Given the description of an element on the screen output the (x, y) to click on. 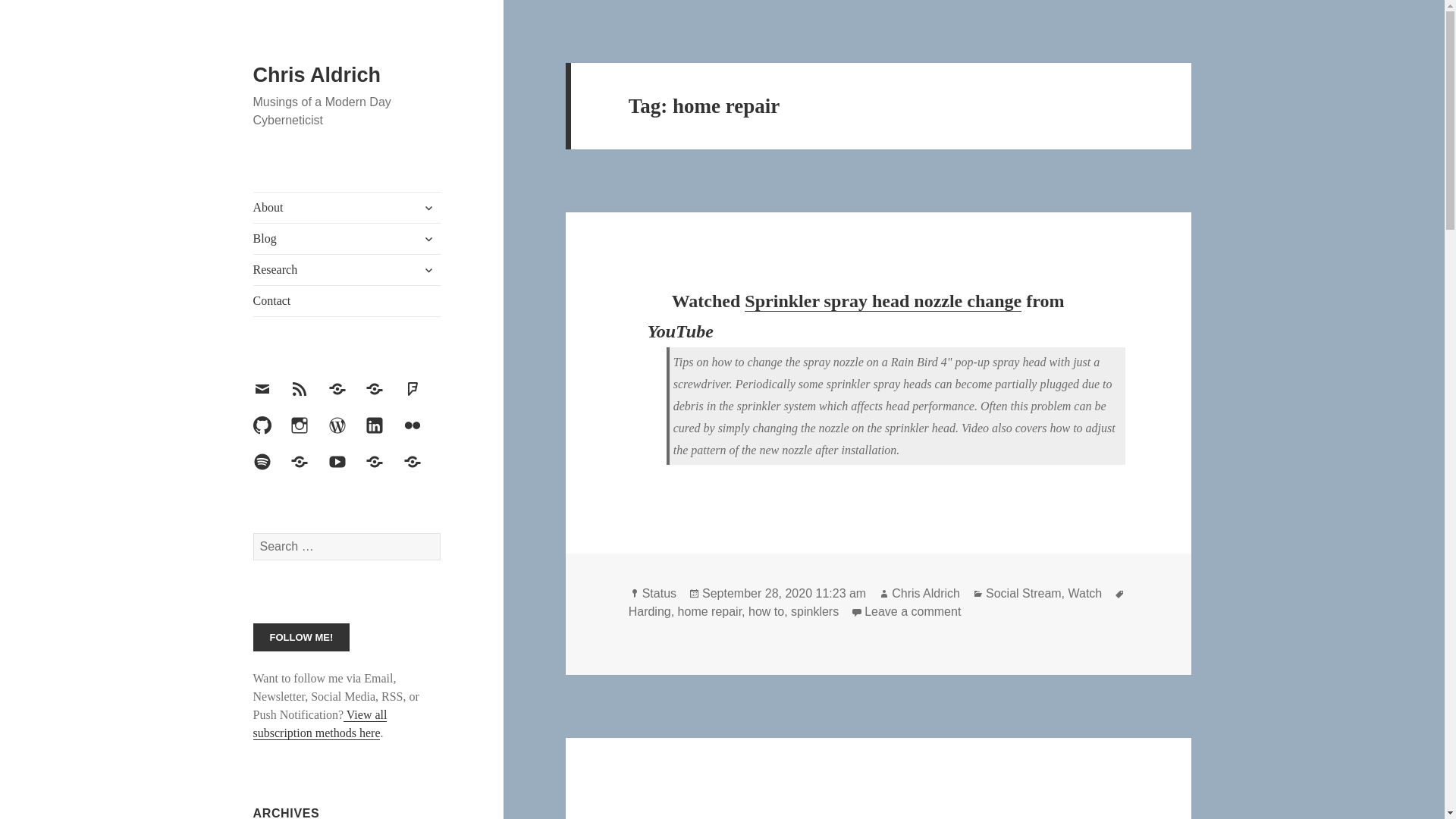
Blog (347, 238)
About (347, 207)
Chris Aldrich (317, 74)
expand child menu (428, 207)
expand child menu (428, 238)
Follow Me! (301, 637)
